Given the description of an element on the screen output the (x, y) to click on. 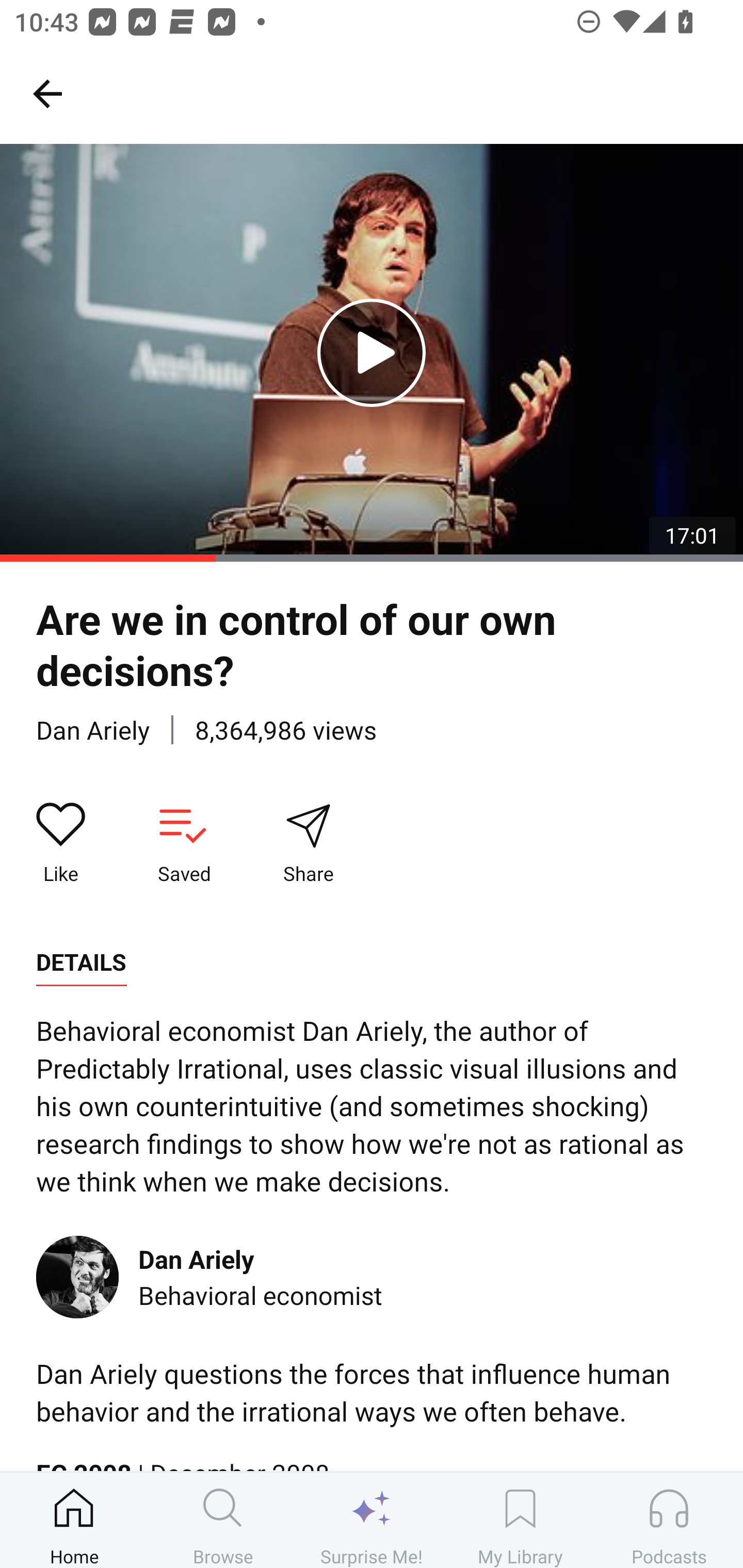
Home, back (47, 92)
Like (60, 843)
Saved (183, 843)
Share (308, 843)
DETAILS (80, 962)
Home (74, 1520)
Browse (222, 1520)
Surprise Me! (371, 1520)
My Library (519, 1520)
Podcasts (668, 1520)
